Given the description of an element on the screen output the (x, y) to click on. 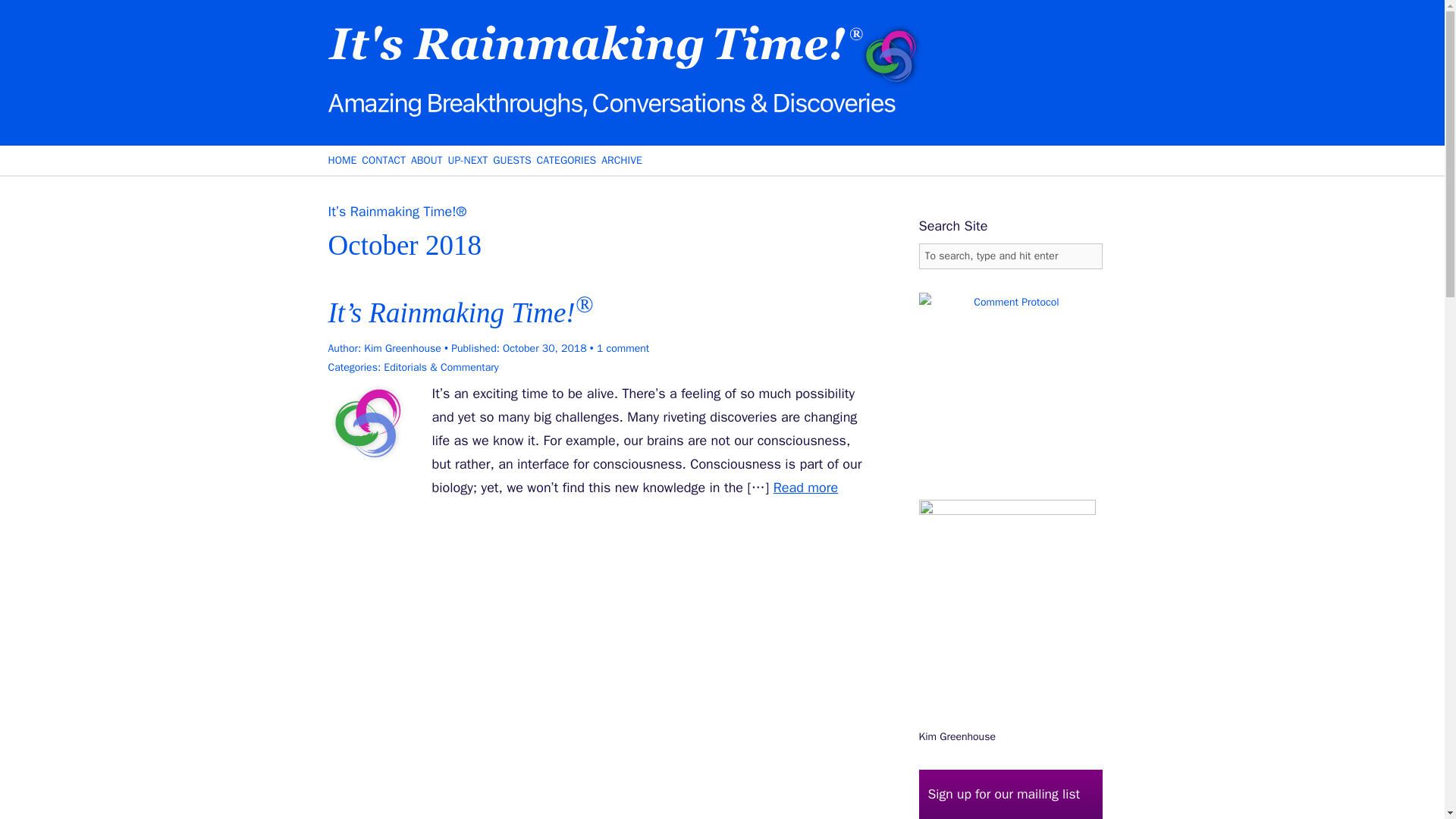
Read more (805, 487)
UP-NEXT (467, 160)
To search, type and hit enter (1010, 256)
GUESTS (512, 160)
2018-10-30 (544, 348)
CONTACT (383, 160)
HOME (341, 160)
CATEGORIES (566, 160)
ABOUT (426, 160)
ARCHIVE (621, 160)
1 comment (619, 348)
